Given the description of an element on the screen output the (x, y) to click on. 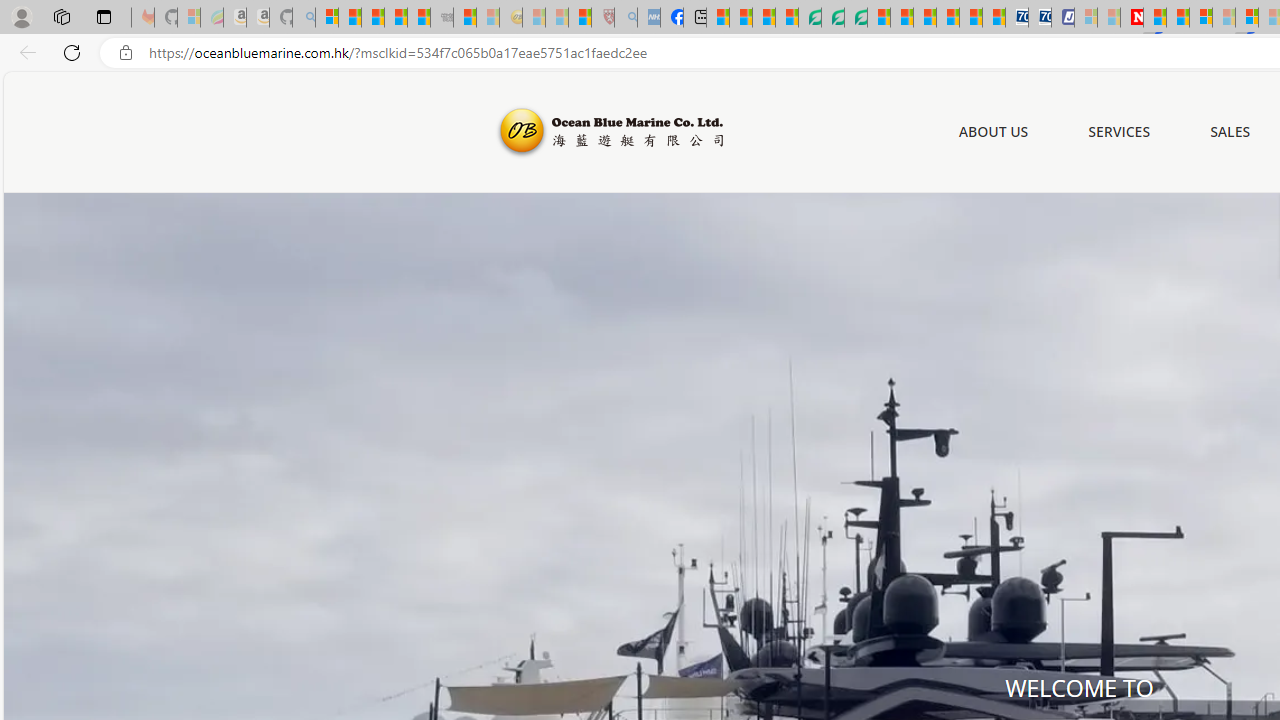
Cheap Hotels - Save70.com (1039, 17)
New Report Confirms 2023 Was Record Hot | Watch (419, 17)
SERVICES (1119, 131)
Microsoft Word - consumer-privacy address update 2.2021 (855, 17)
Ocean Blue Marine (608, 132)
The Weather Channel - MSN (372, 17)
